Given the description of an element on the screen output the (x, y) to click on. 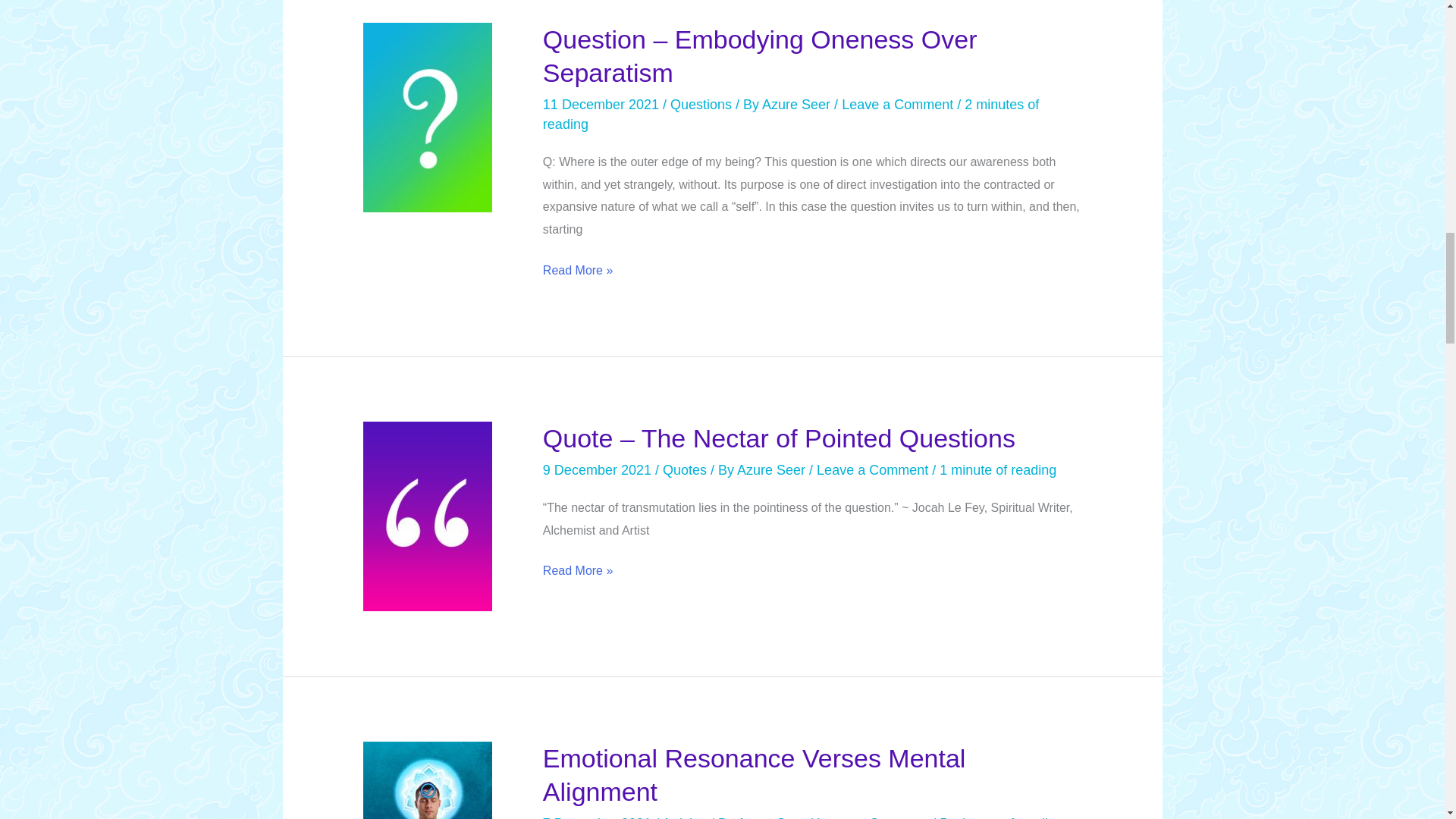
Azure Seer (772, 469)
View all posts by Azure Seer (772, 817)
Leave a Comment (872, 469)
Questions (700, 104)
View all posts by Azure Seer (797, 104)
Azure Seer (797, 104)
Leave a Comment (897, 104)
Quotes (684, 469)
View all posts by Azure Seer (772, 469)
